Given the description of an element on the screen output the (x, y) to click on. 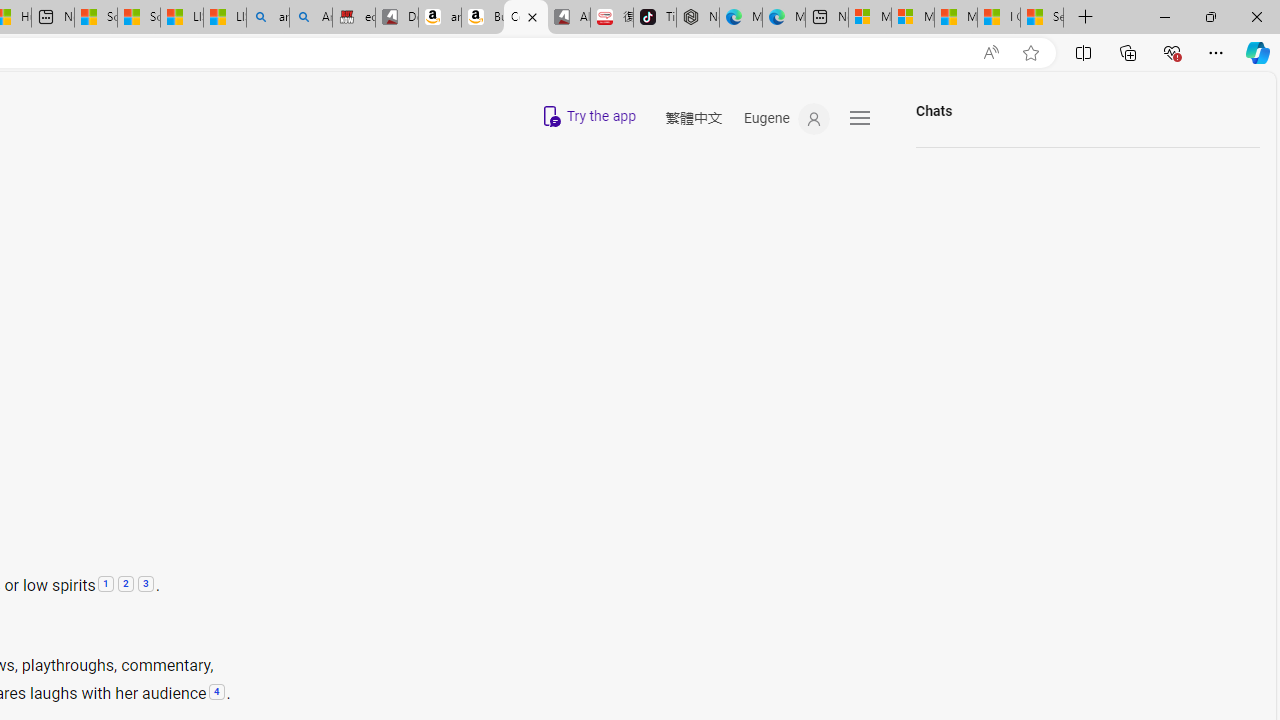
Microsoft account | Privacy (913, 17)
TikTok (654, 17)
Settings and quick links (859, 117)
2: Melancholy or Depression: (125, 585)
amazon.in/dp/B0CX59H5W7/?tag=gsmcom05-21 (439, 17)
amazon - Search (268, 17)
Copilot (525, 17)
